Given the description of an element on the screen output the (x, y) to click on. 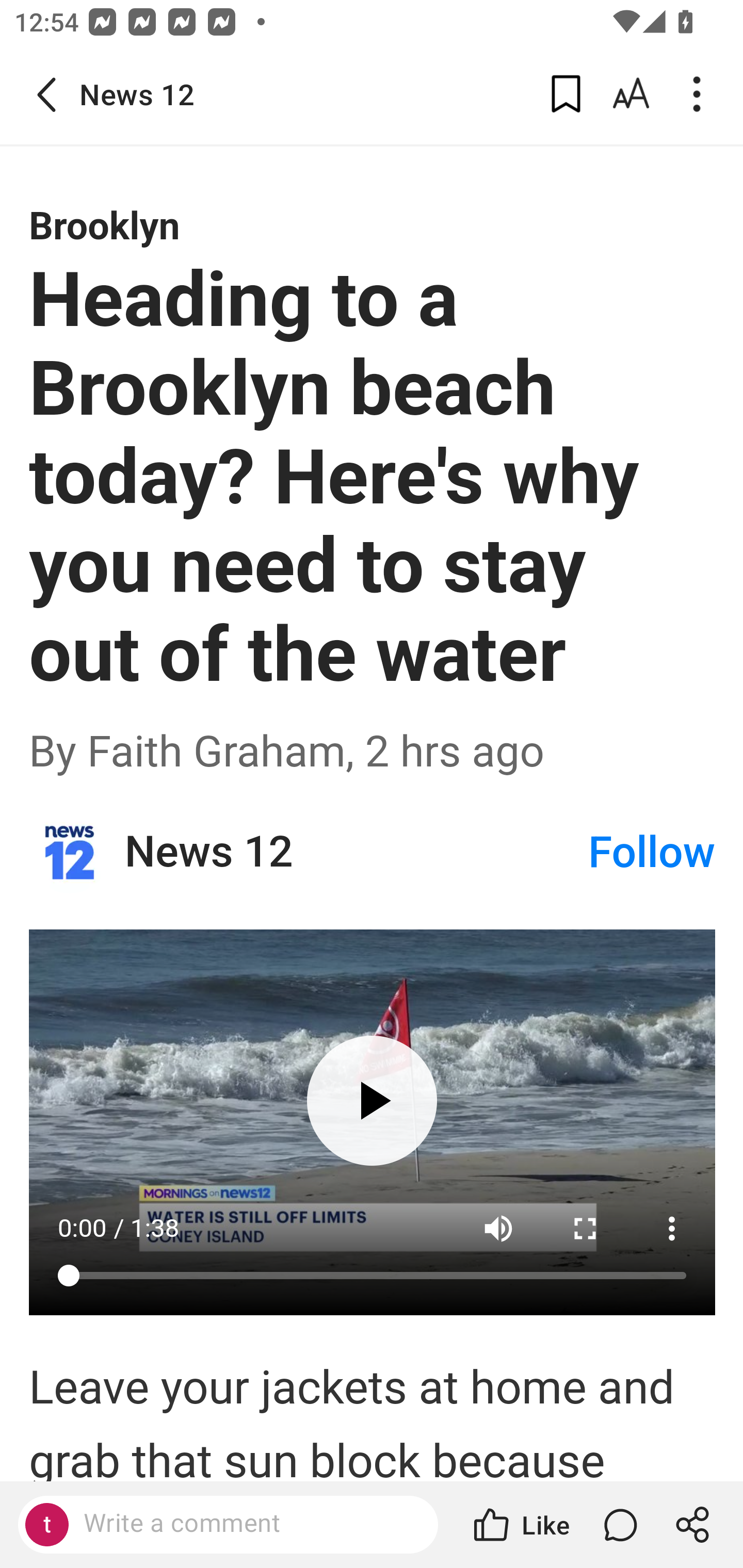
News (70, 851)
News 12 (355, 852)
Follow (651, 851)
play (372, 1100)
mute (497, 1228)
enter full screen (585, 1228)
show more media controls (672, 1228)
Like (519, 1524)
Write a comment (227, 1524)
Write a comment (245, 1523)
